Given the description of an element on the screen output the (x, y) to click on. 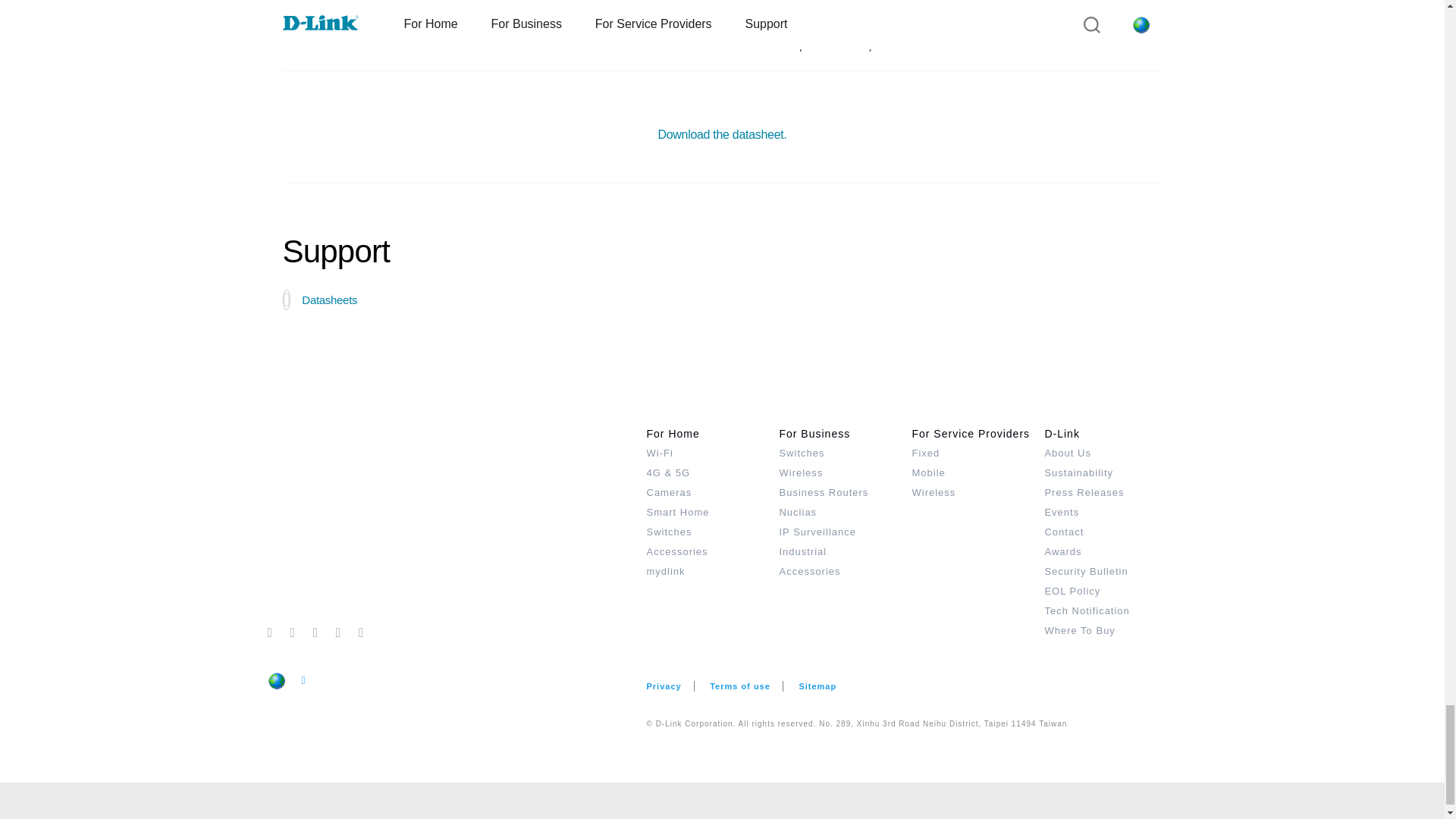
D-Link (456, 523)
Download the datasheet. (722, 133)
